Given the description of an element on the screen output the (x, y) to click on. 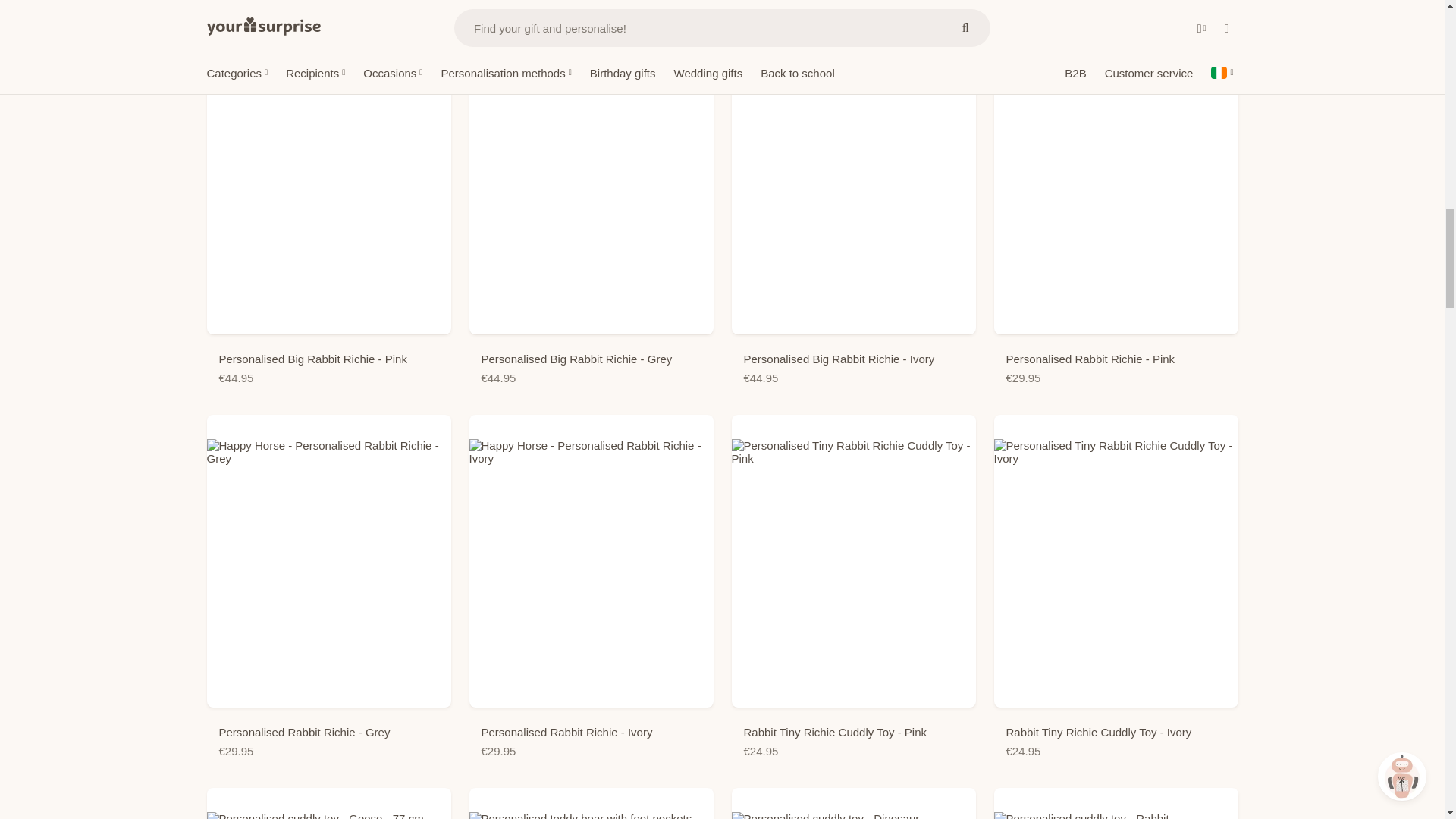
Personalised teddy bear - XXL (590, 5)
Big teddy bear (327, 5)
Rabbit Tiny Richie Cuddly Toy - Grey (1114, 5)
Embroidered belly teddy bear (852, 5)
